Given the description of an element on the screen output the (x, y) to click on. 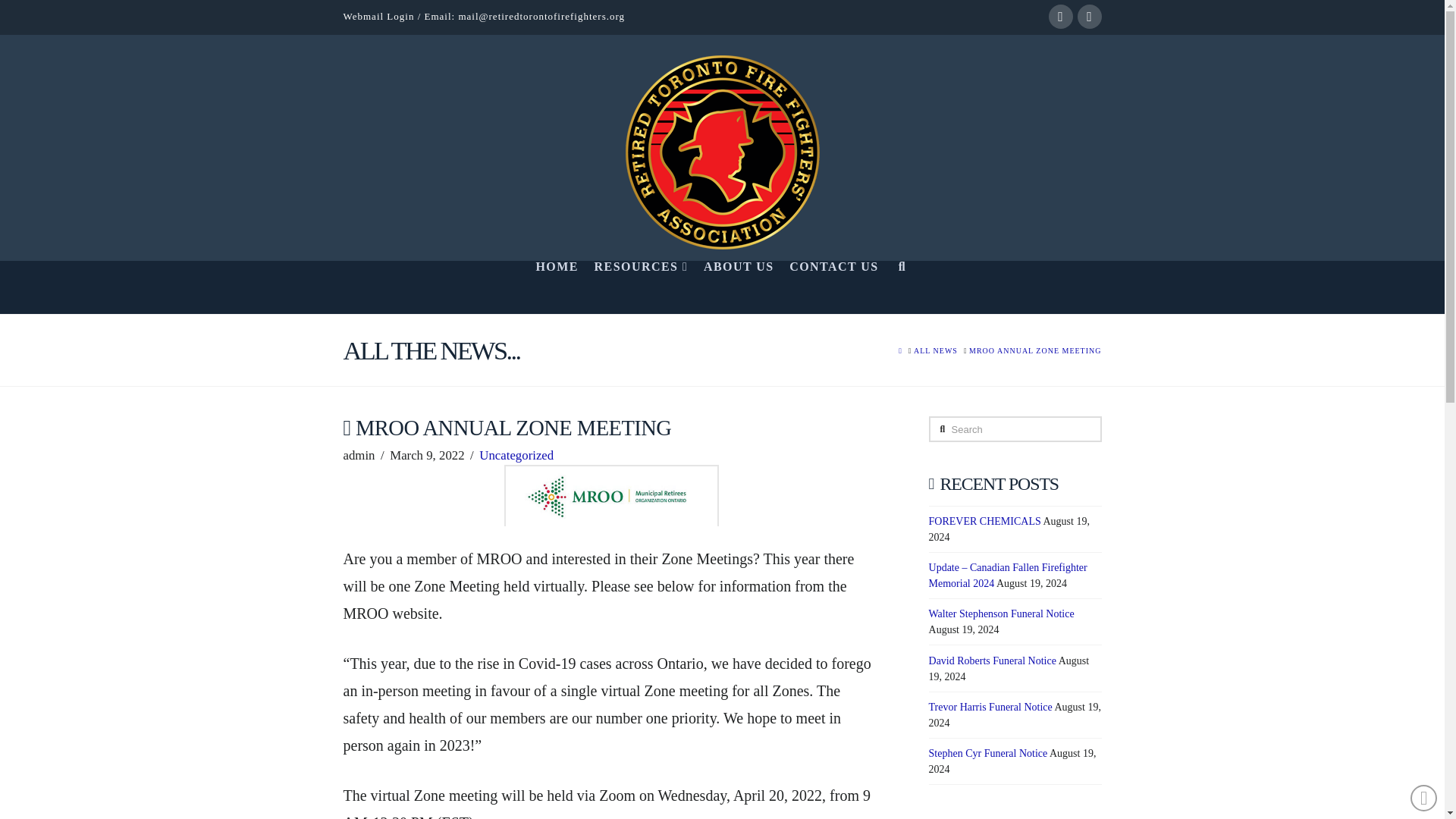
CONTACT US (832, 287)
You Are Here (1034, 350)
RESOURCES (639, 287)
ABOUT US (737, 287)
HOME (556, 287)
Facebook (1059, 16)
Webmail Login (377, 16)
